Given the description of an element on the screen output the (x, y) to click on. 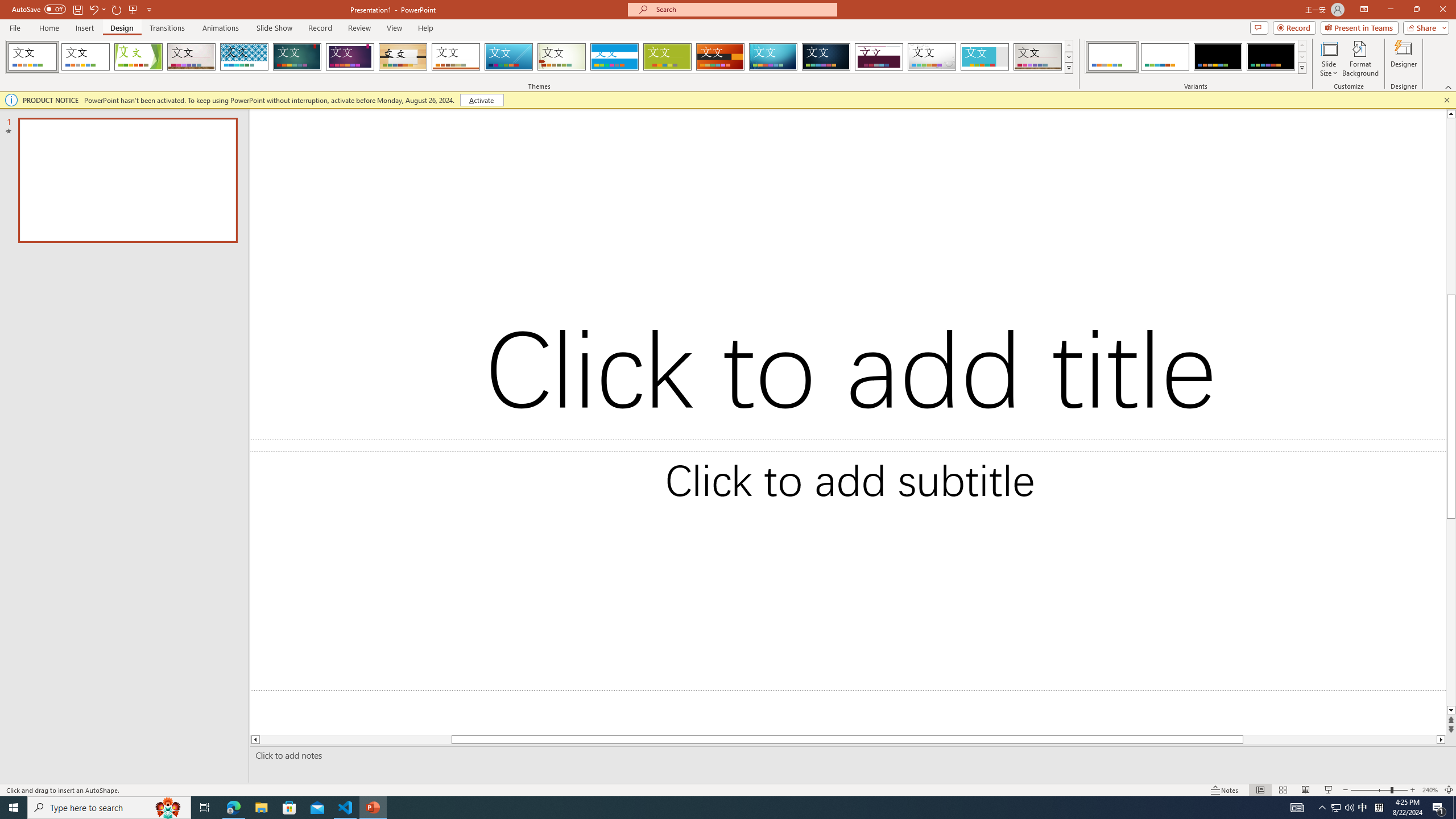
Office Theme Variant 4 (1270, 56)
Themes (1068, 67)
Banded (614, 56)
Organic (403, 56)
Ion (296, 56)
Gallery (1037, 56)
